Given the description of an element on the screen output the (x, y) to click on. 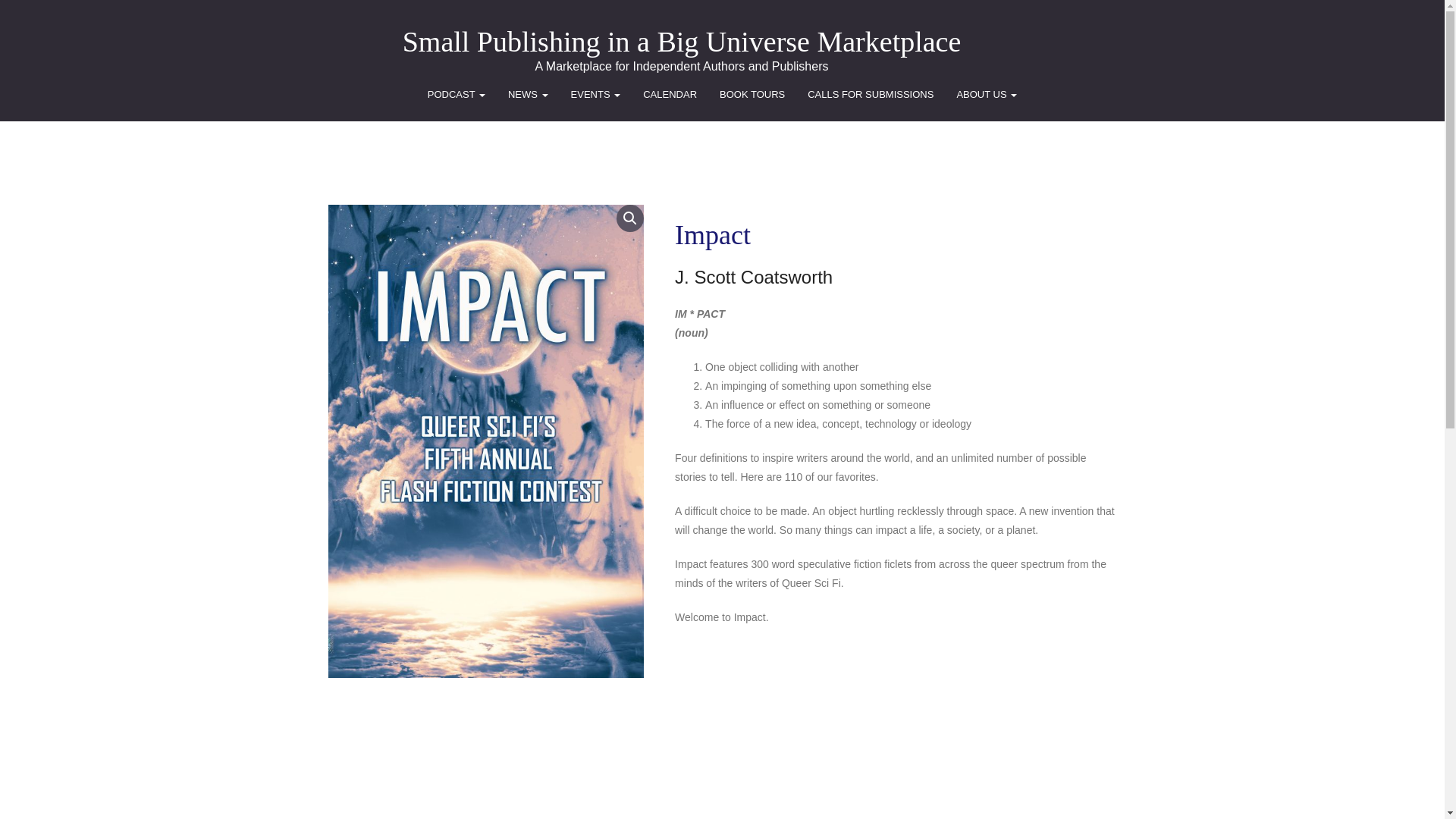
PODCAST (456, 94)
Podcast (456, 94)
